Given the description of an element on the screen output the (x, y) to click on. 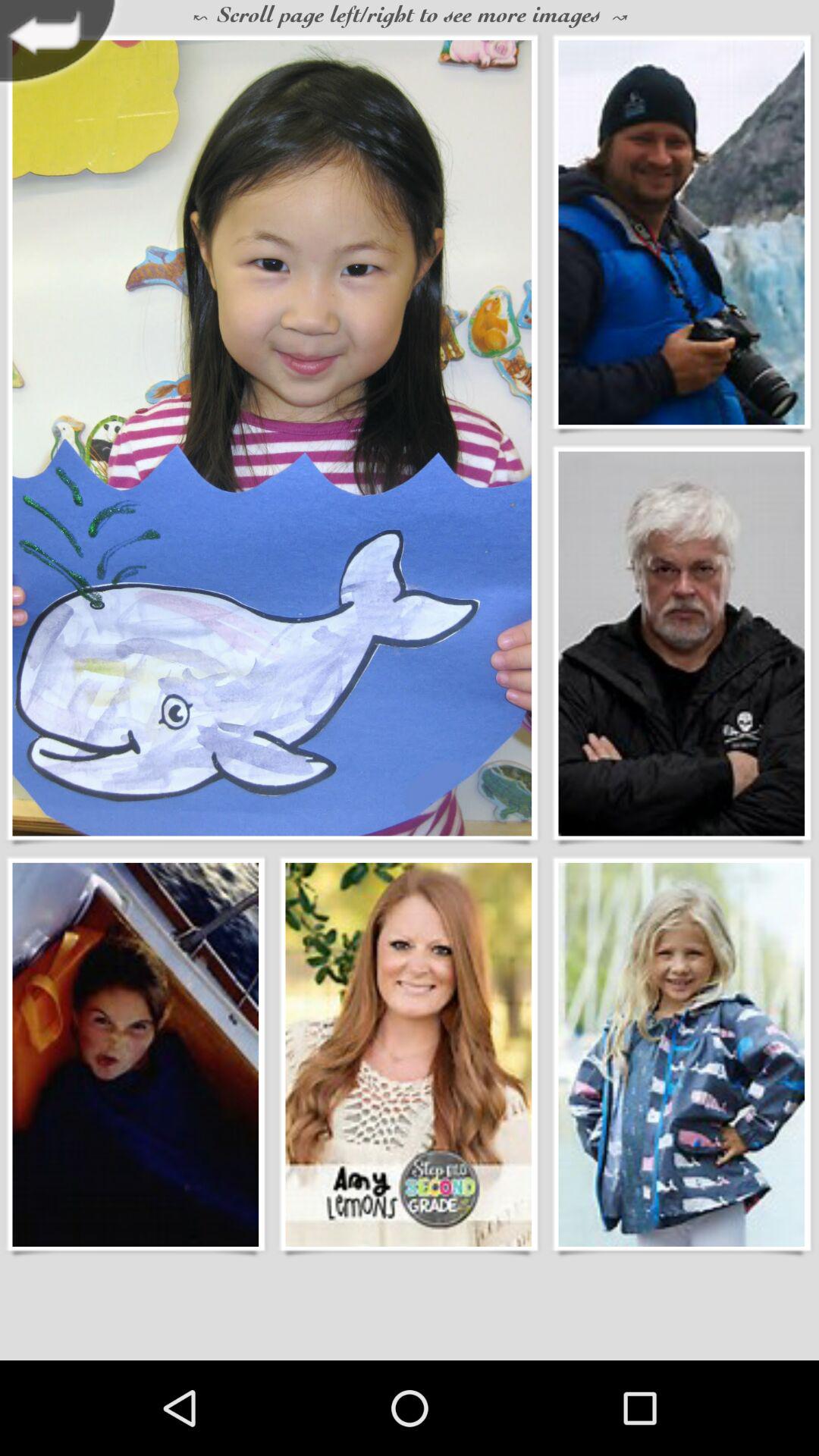
select image (681, 232)
